Given the description of an element on the screen output the (x, y) to click on. 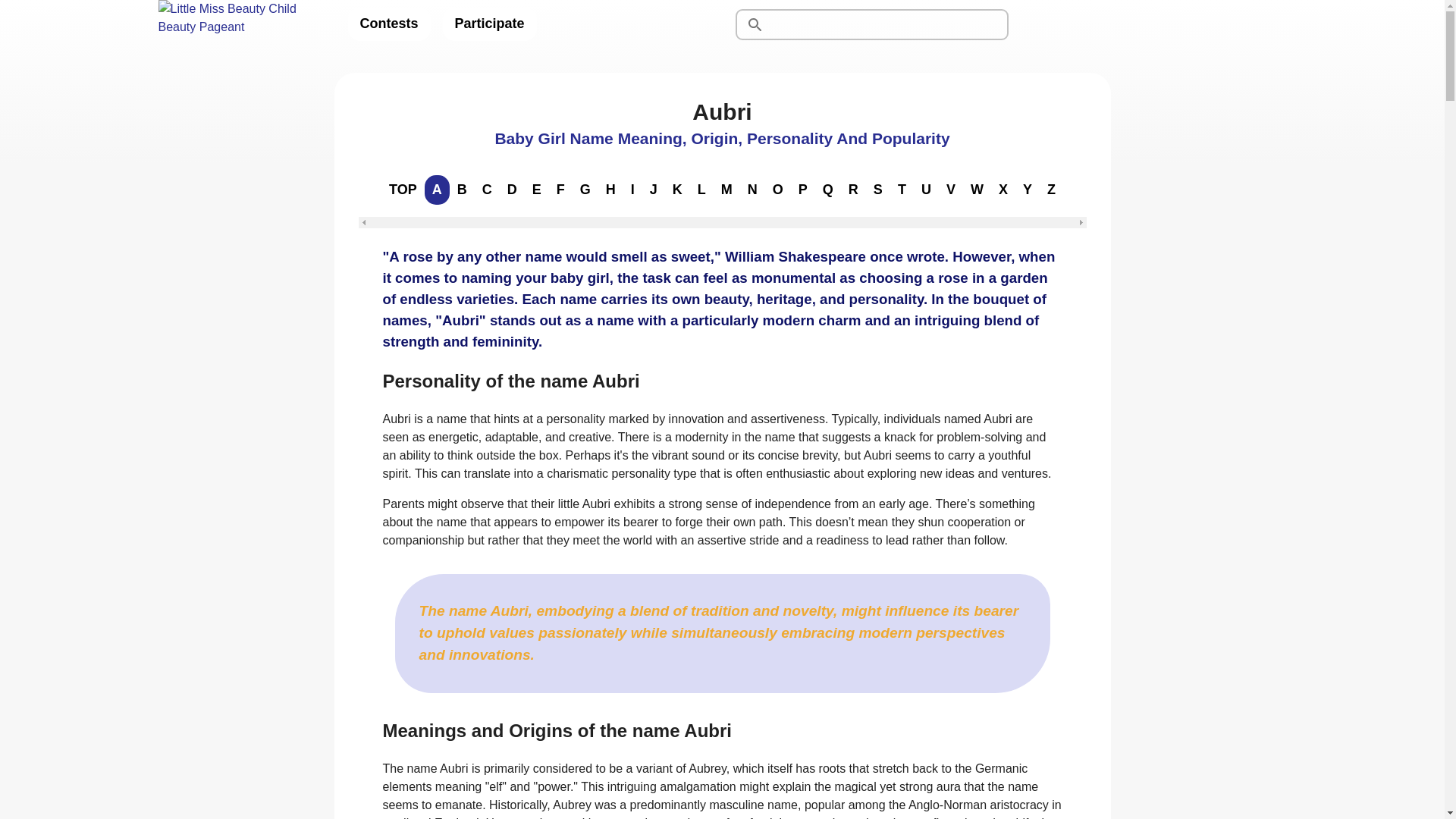
Participate (489, 23)
N (752, 189)
P (802, 189)
Contests (388, 23)
K (677, 189)
A (437, 189)
L (701, 189)
O (777, 189)
Little Miss Beauty Child Beauty Pageant (240, 24)
Y (1026, 189)
M (726, 189)
X (1002, 189)
C (486, 189)
Z (1050, 189)
W (976, 189)
